Given the description of an element on the screen output the (x, y) to click on. 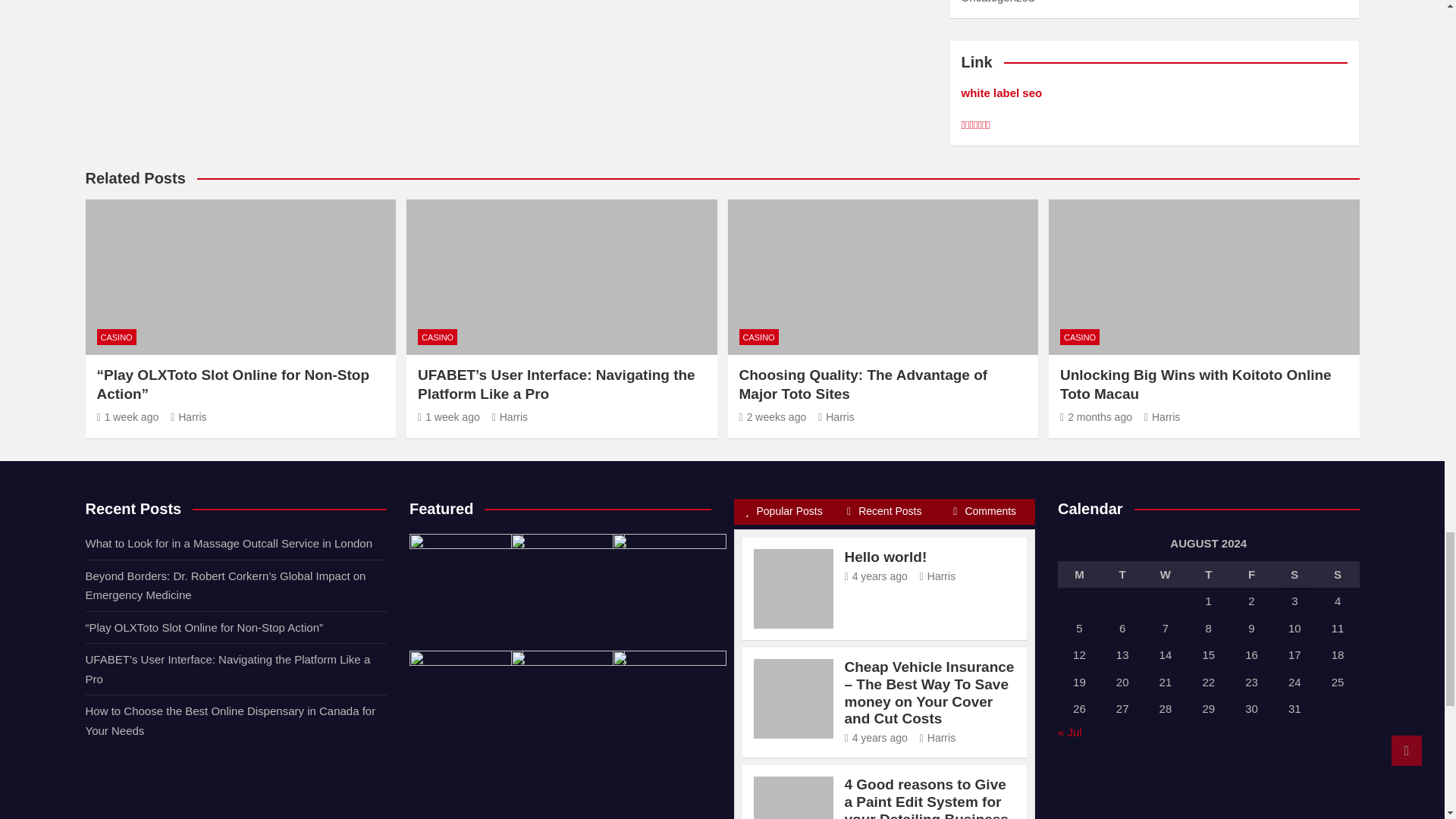
Thursday (1208, 574)
Wednesday (1166, 574)
Sunday (1337, 574)
Monday (1079, 574)
Unlocking Big Wins with Koitoto Online Toto Macau (1095, 417)
Choosing Quality: The Advantage of Major Toto Sites (772, 417)
Tuesday (1122, 574)
Saturday (1294, 574)
Friday (1251, 574)
Hello world! (875, 576)
